Given the description of an element on the screen output the (x, y) to click on. 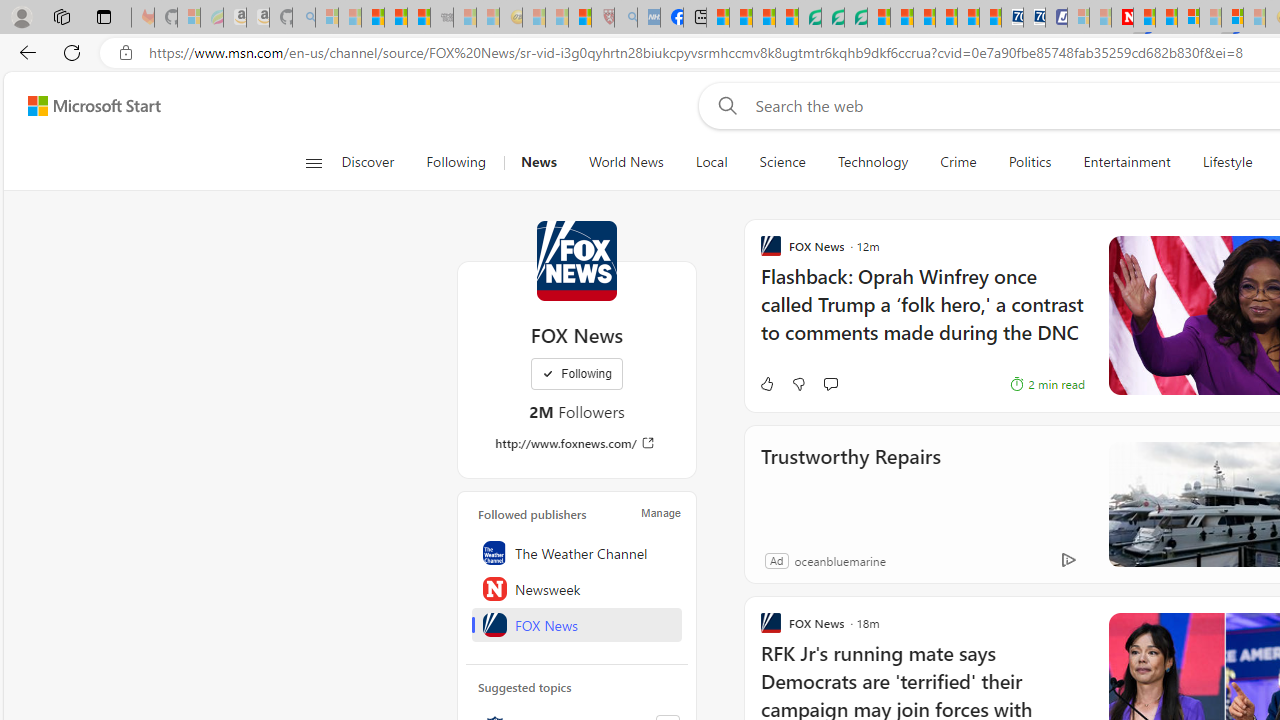
Terms of Use Agreement (832, 17)
Latest Politics News & Archive | Newsweek.com (1122, 17)
